Given the description of an element on the screen output the (x, y) to click on. 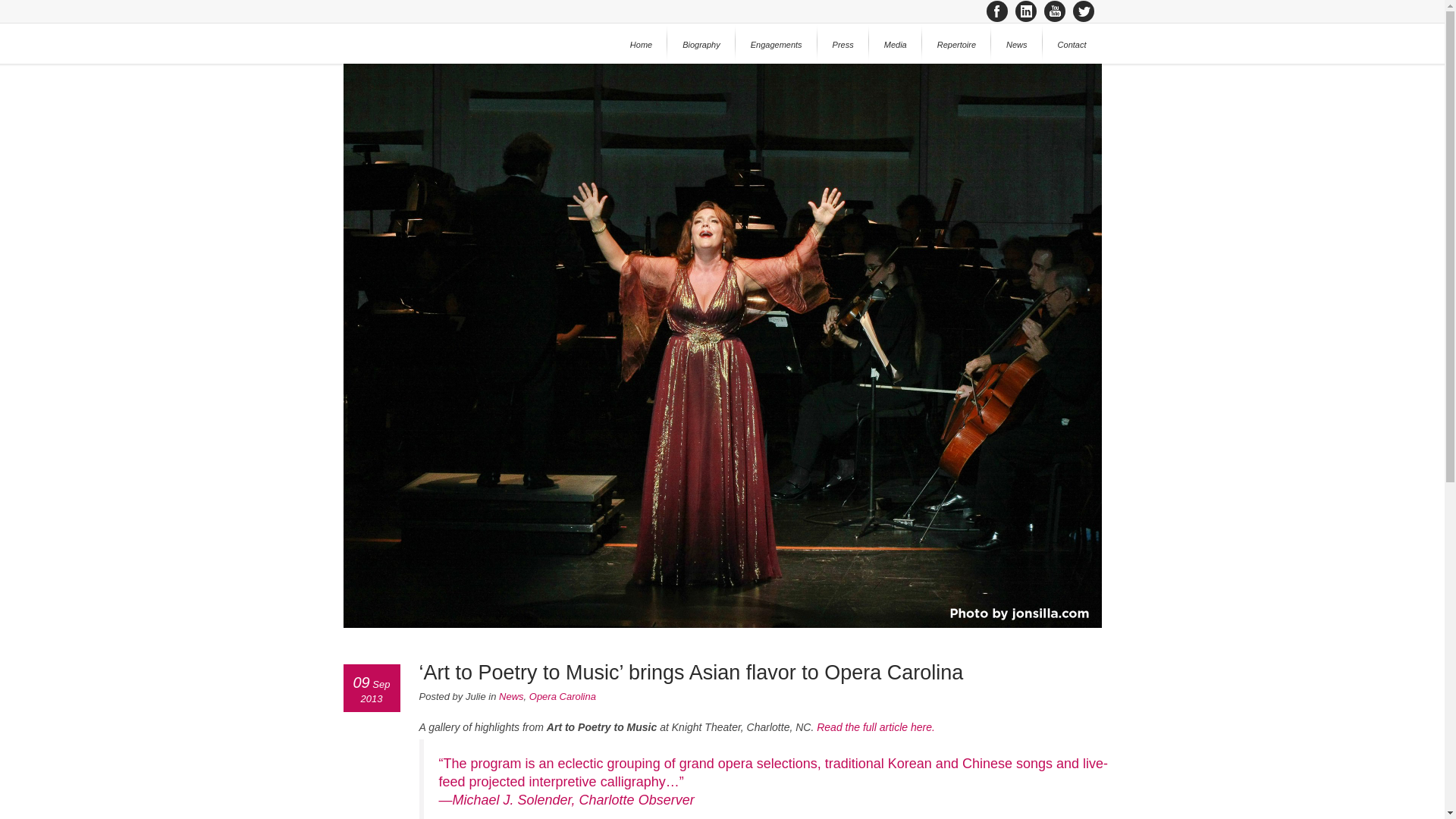
Biography (700, 43)
Press (842, 43)
Contact (1072, 43)
Read the full article here. (875, 727)
News (511, 696)
Home (640, 43)
facebook (996, 11)
youtube (1053, 11)
linkedin (1024, 11)
Media (895, 43)
Repertoire (956, 43)
Opera Carolina (562, 696)
twitter (1082, 11)
Opera Carolina-Art to Poetry to Music (875, 727)
News (1016, 43)
